Given the description of an element on the screen output the (x, y) to click on. 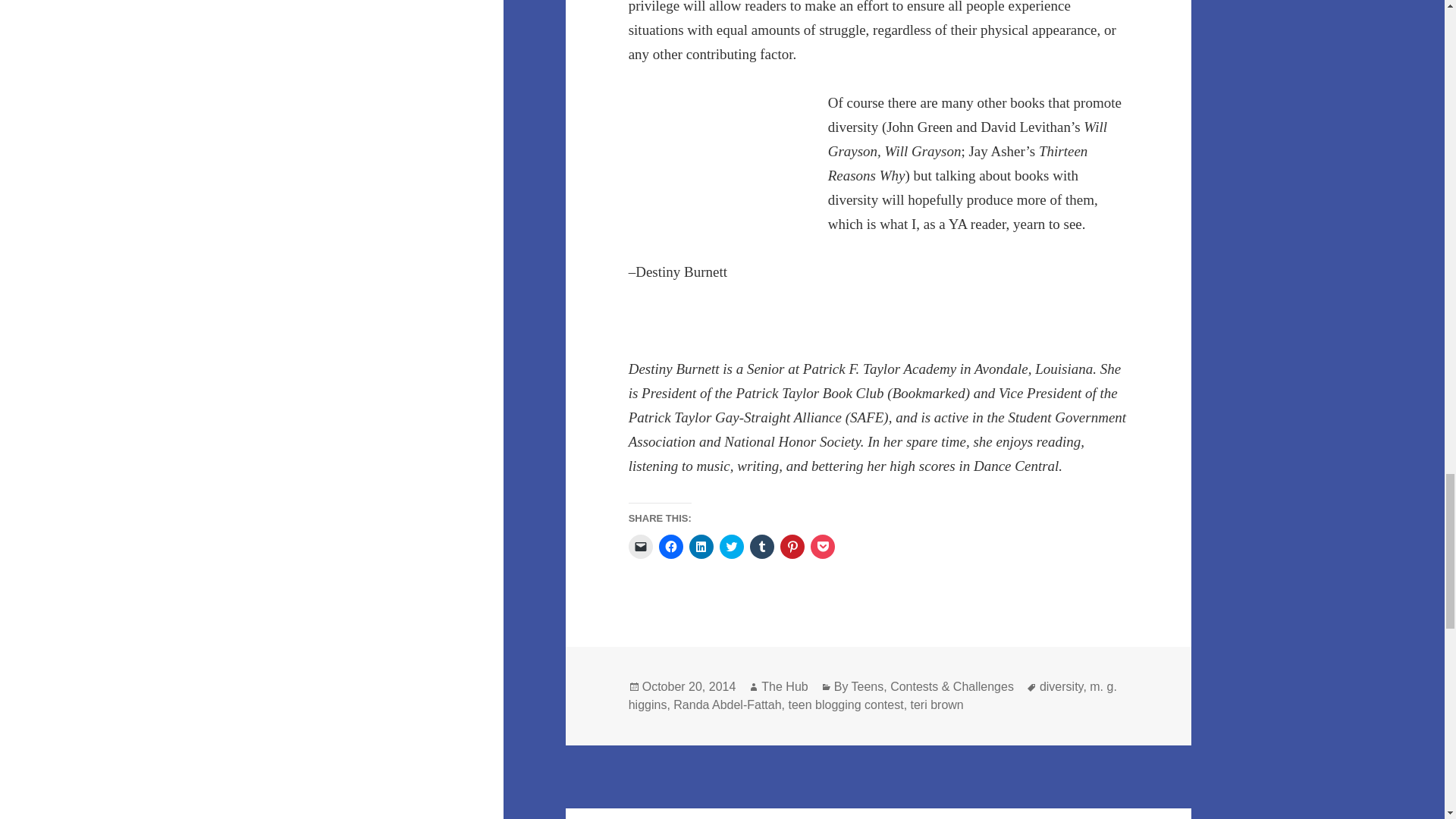
Click to share on LinkedIn (700, 546)
Click to share on Facebook (670, 546)
Click to email a link to a friend (640, 546)
Click to share on Twitter (731, 546)
Click to share on Tumblr (761, 546)
Click to share on Pinterest (792, 546)
Click to share on Pocket (822, 546)
